Given the description of an element on the screen output the (x, y) to click on. 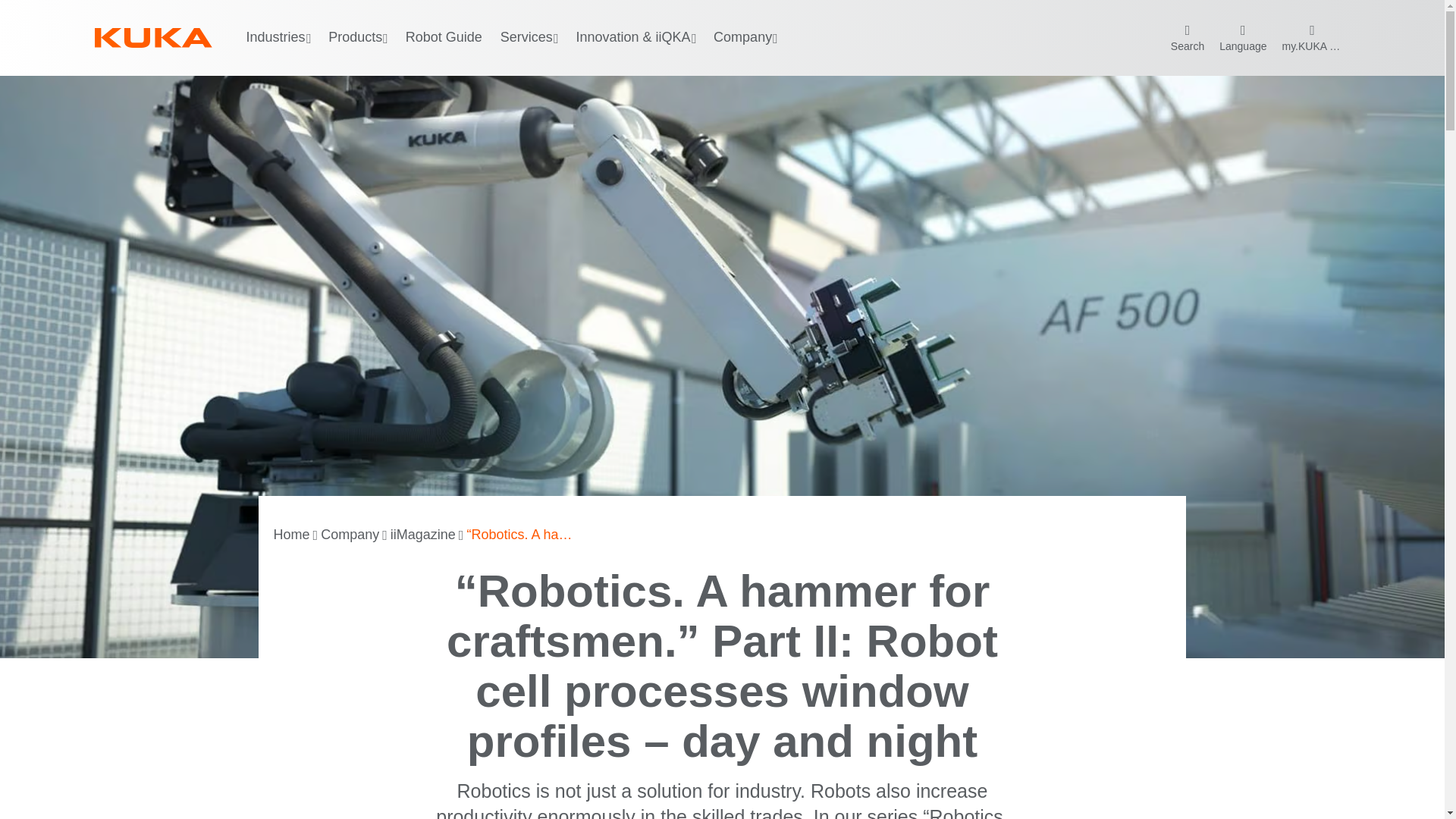
iiMagazine (422, 535)
Home (291, 535)
Company (349, 535)
